Given the description of an element on the screen output the (x, y) to click on. 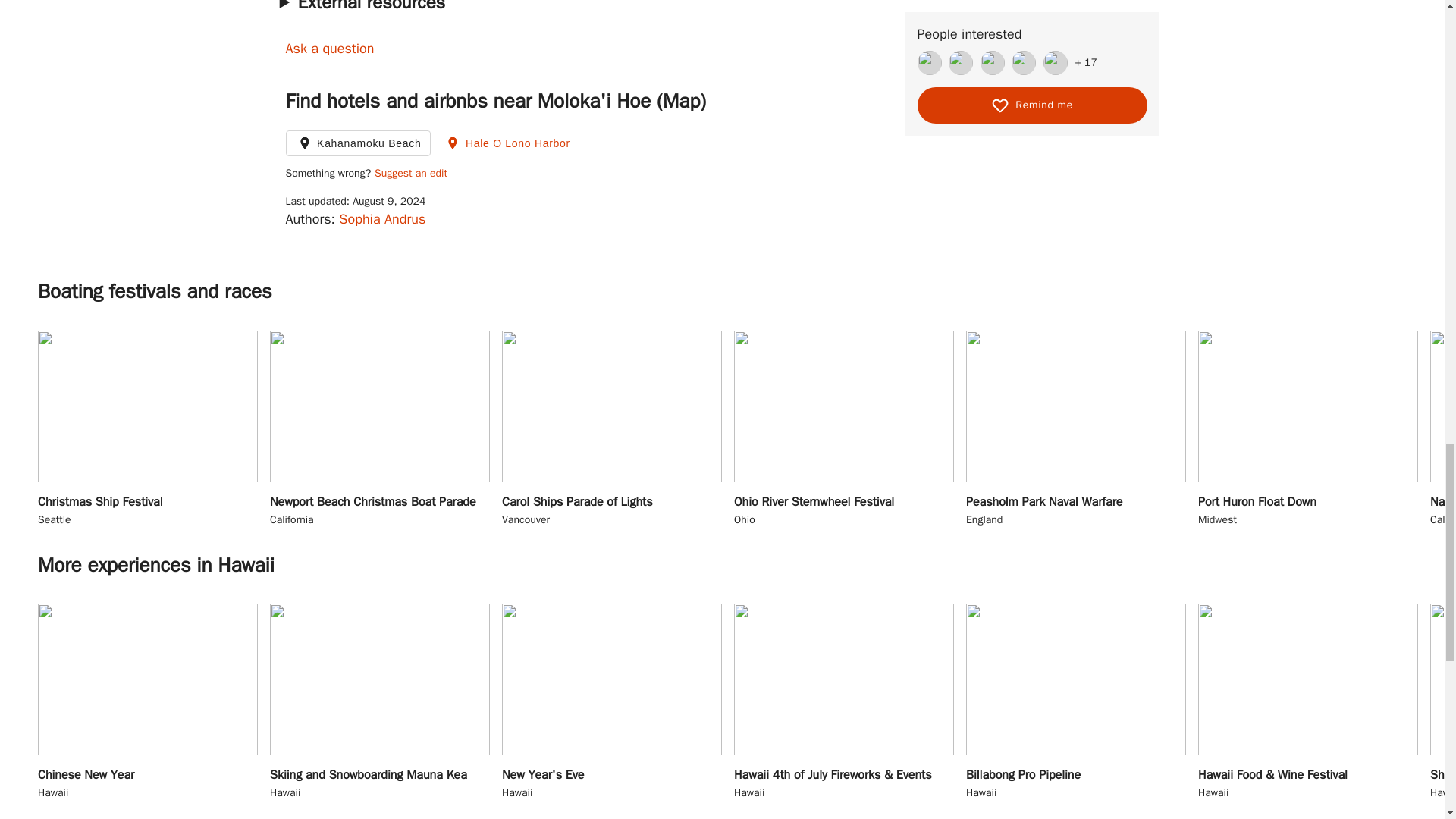
Kahanamoku Beach (52, 171)
Kahanamoku Beach (357, 143)
Hale O Lono Harbor (147, 428)
Ask a question (506, 143)
